Given the description of an element on the screen output the (x, y) to click on. 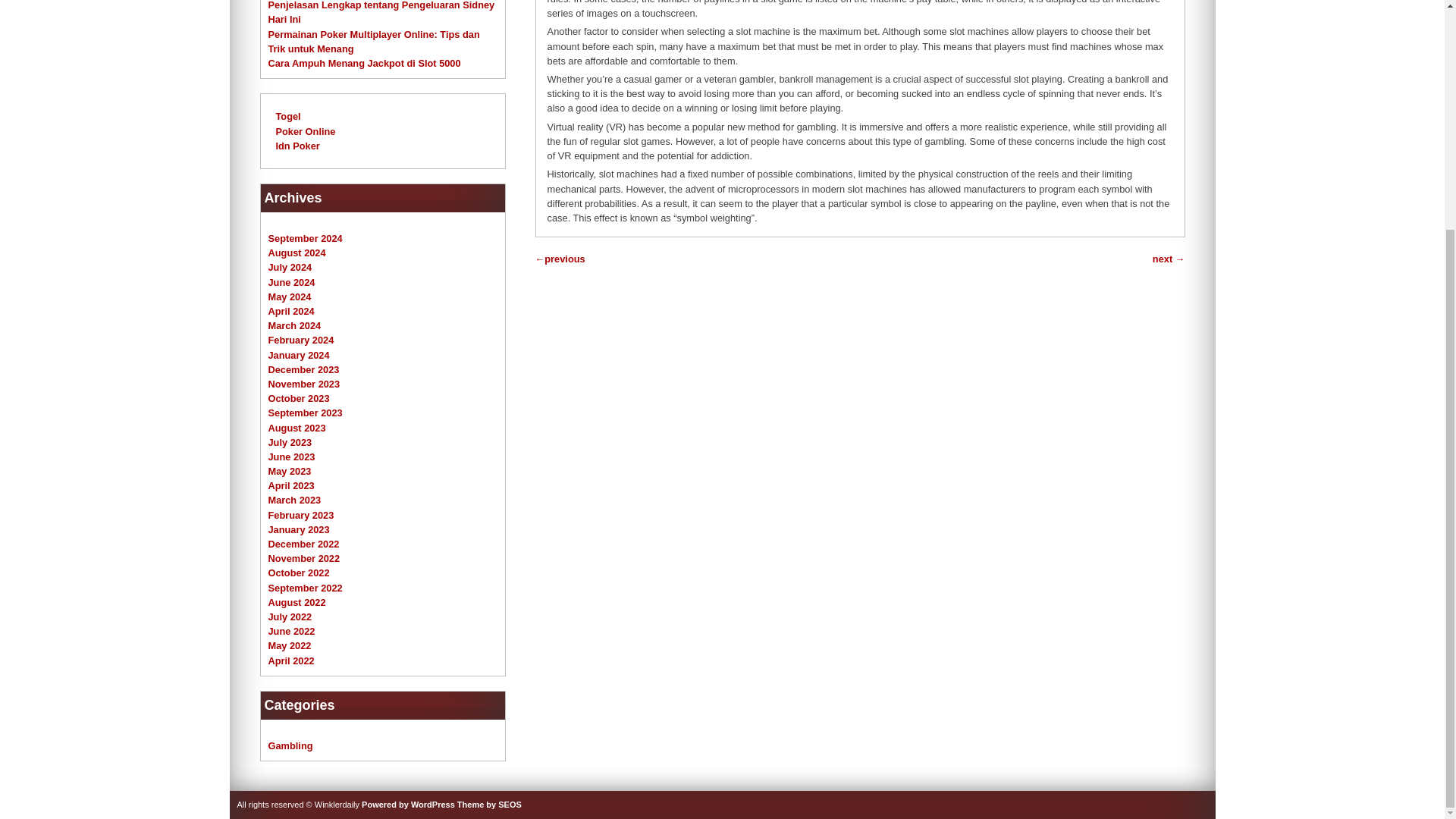
Penjelasan Lengkap tentang Pengeluaran Sidney Hari Ini (381, 12)
April 2023 (290, 485)
February 2023 (300, 514)
Togel (288, 116)
July 2023 (290, 441)
August 2024 (296, 252)
March 2023 (294, 500)
September 2024 (304, 238)
December 2023 (303, 369)
March 2024 (294, 325)
